Given the description of an element on the screen output the (x, y) to click on. 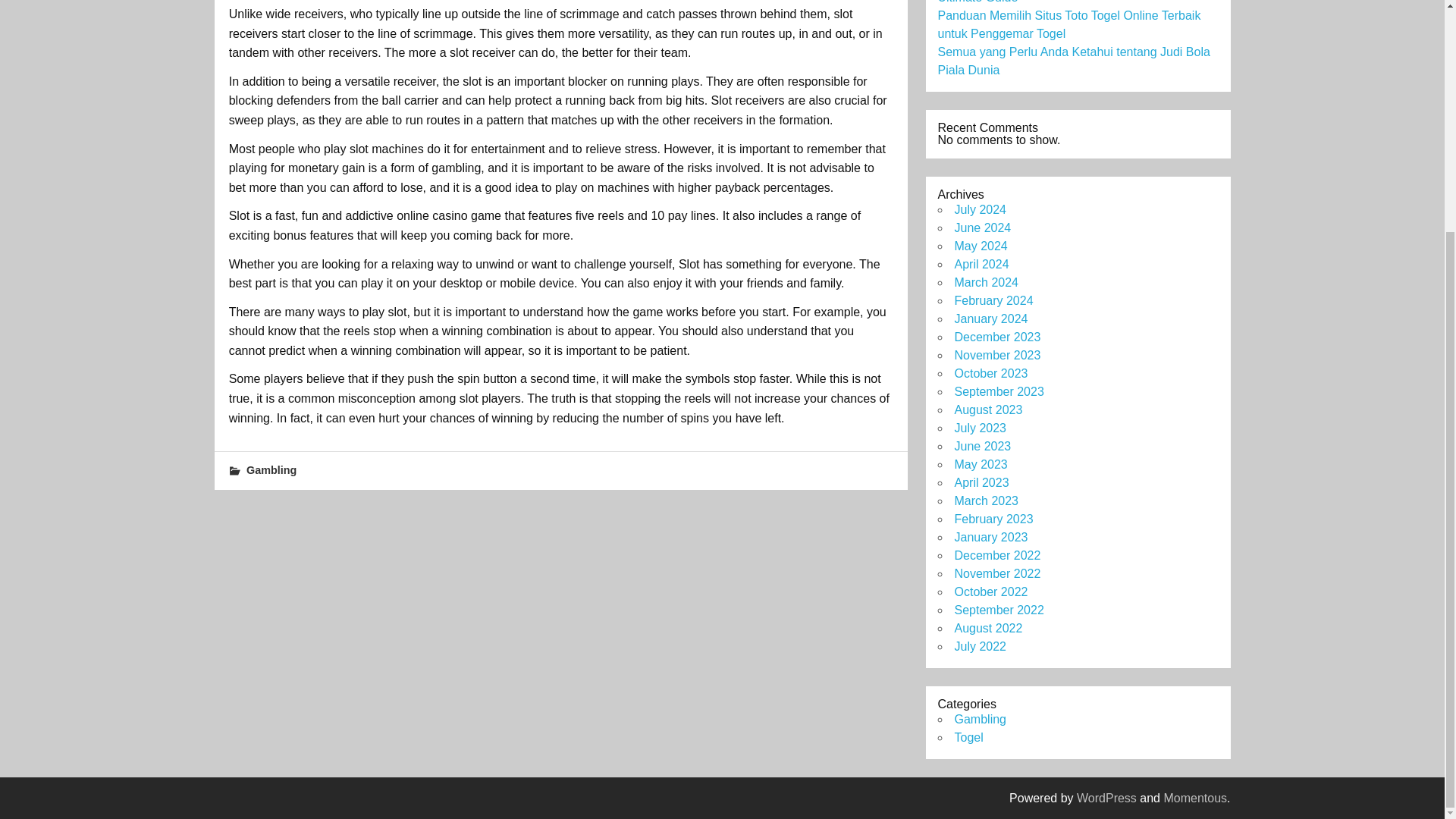
Momentous WordPress Theme (1195, 797)
August 2022 (987, 627)
Semua yang Perlu Anda Ketahui tentang Judi Bola Piala Dunia (1073, 60)
June 2023 (981, 445)
December 2022 (997, 554)
June 2024 (981, 227)
November 2023 (997, 354)
November 2022 (997, 573)
September 2023 (998, 391)
October 2022 (990, 591)
March 2024 (985, 282)
March 2023 (985, 500)
January 2023 (990, 536)
October 2023 (990, 373)
